Given the description of an element on the screen output the (x, y) to click on. 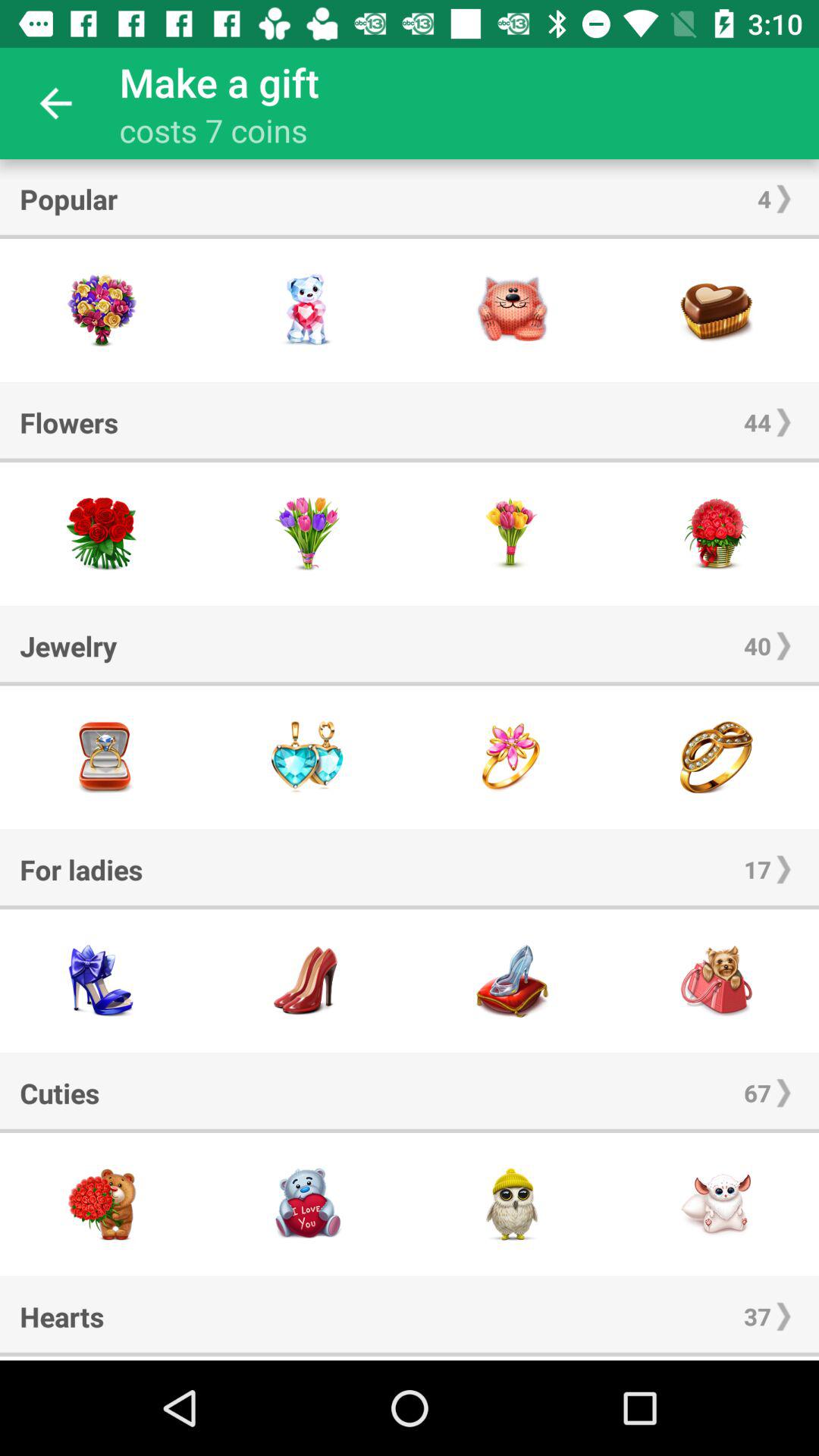
single rose (511, 533)
